Given the description of an element on the screen output the (x, y) to click on. 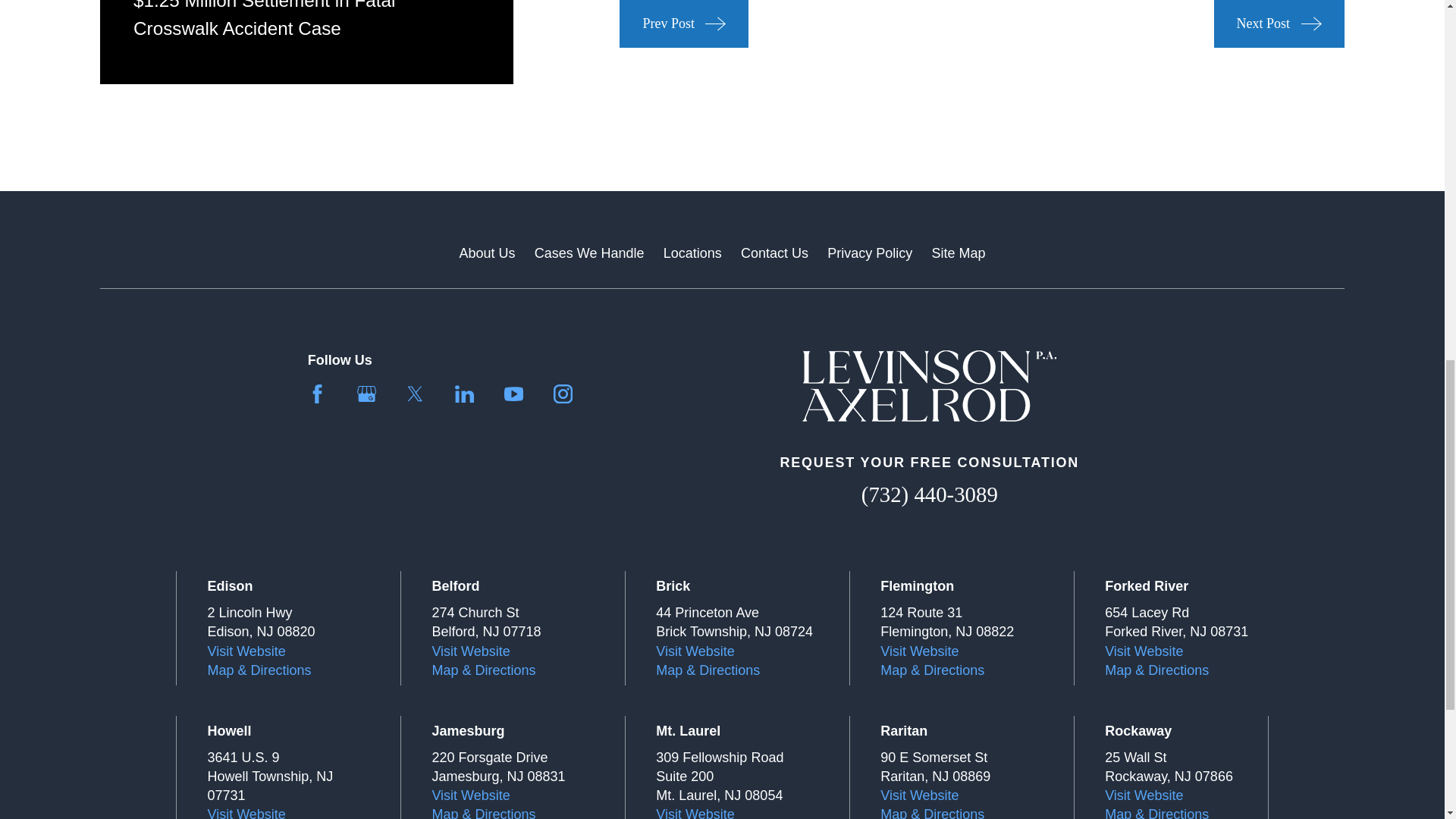
LinkedIn (464, 393)
Twitter (415, 393)
Google Business Profile (365, 393)
YouTube (512, 393)
Facebook (316, 393)
Instagram (562, 393)
